Given the description of an element on the screen output the (x, y) to click on. 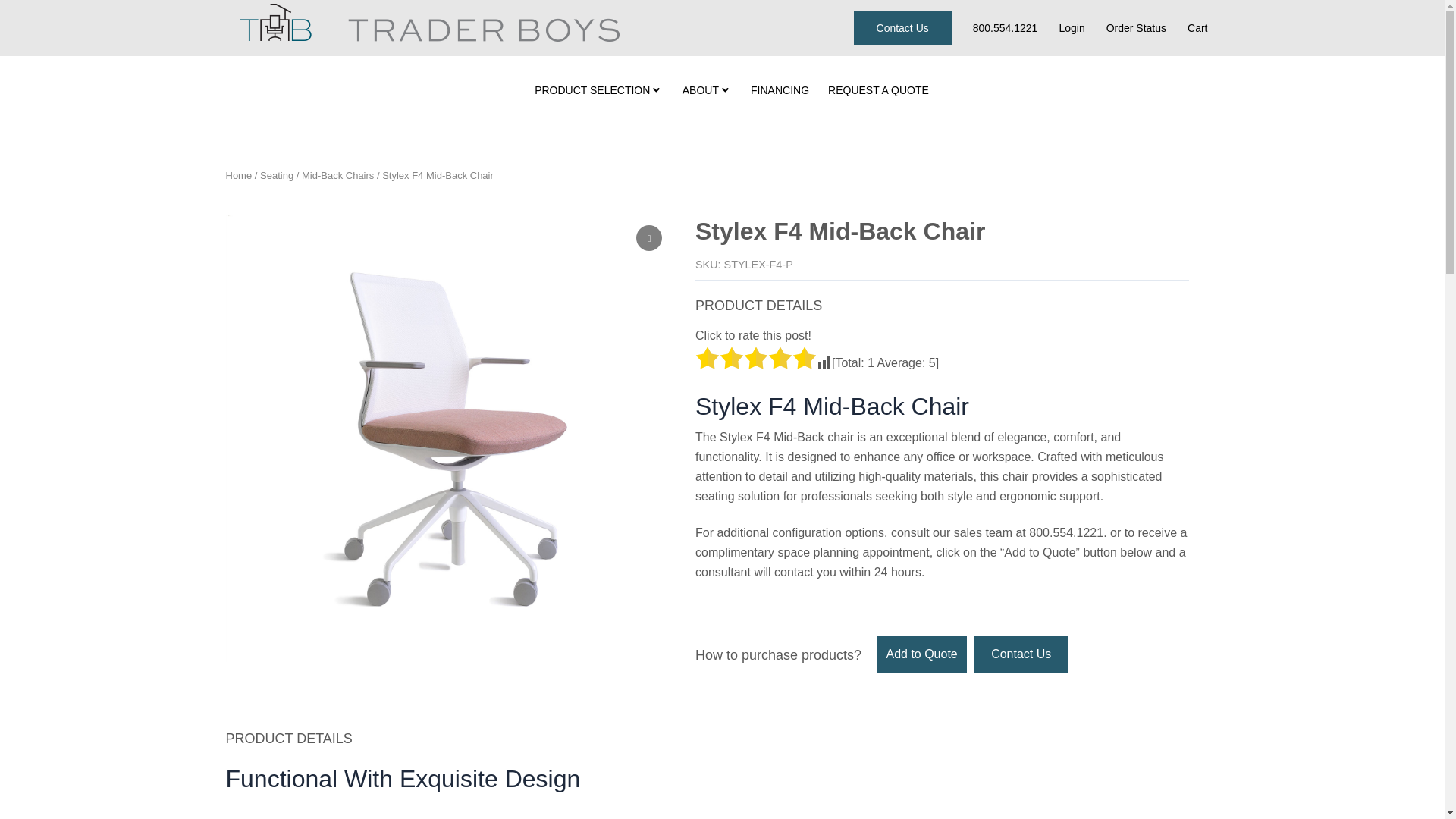
Login (1071, 27)
Contact Us (902, 28)
800.554.1221 (1005, 27)
Cart (1197, 27)
PRODUCT SELECTION (596, 90)
Order Status (1136, 27)
